Given the description of an element on the screen output the (x, y) to click on. 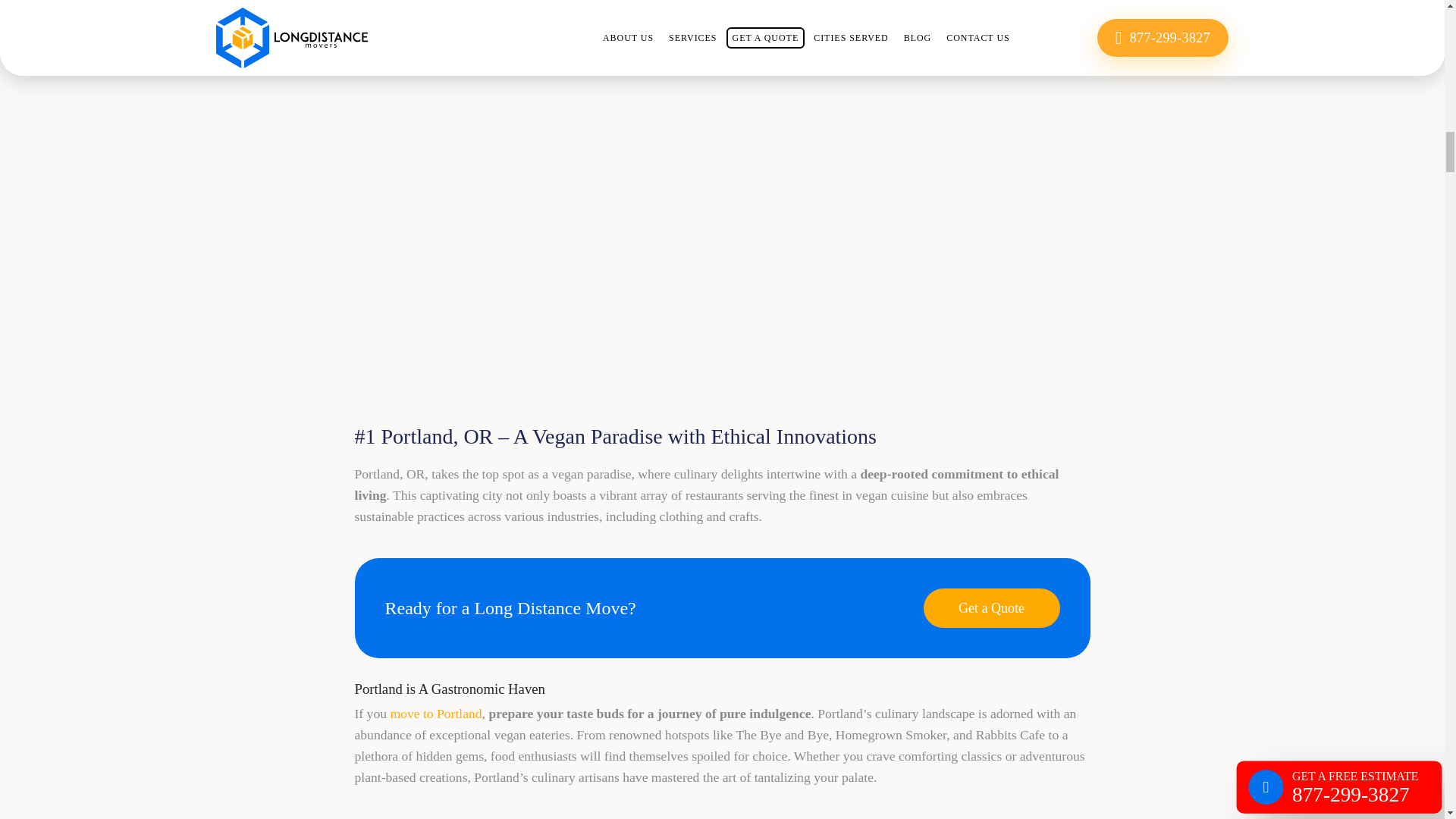
Get a Quote (991, 608)
move to Portland (435, 713)
